Given the description of an element on the screen output the (x, y) to click on. 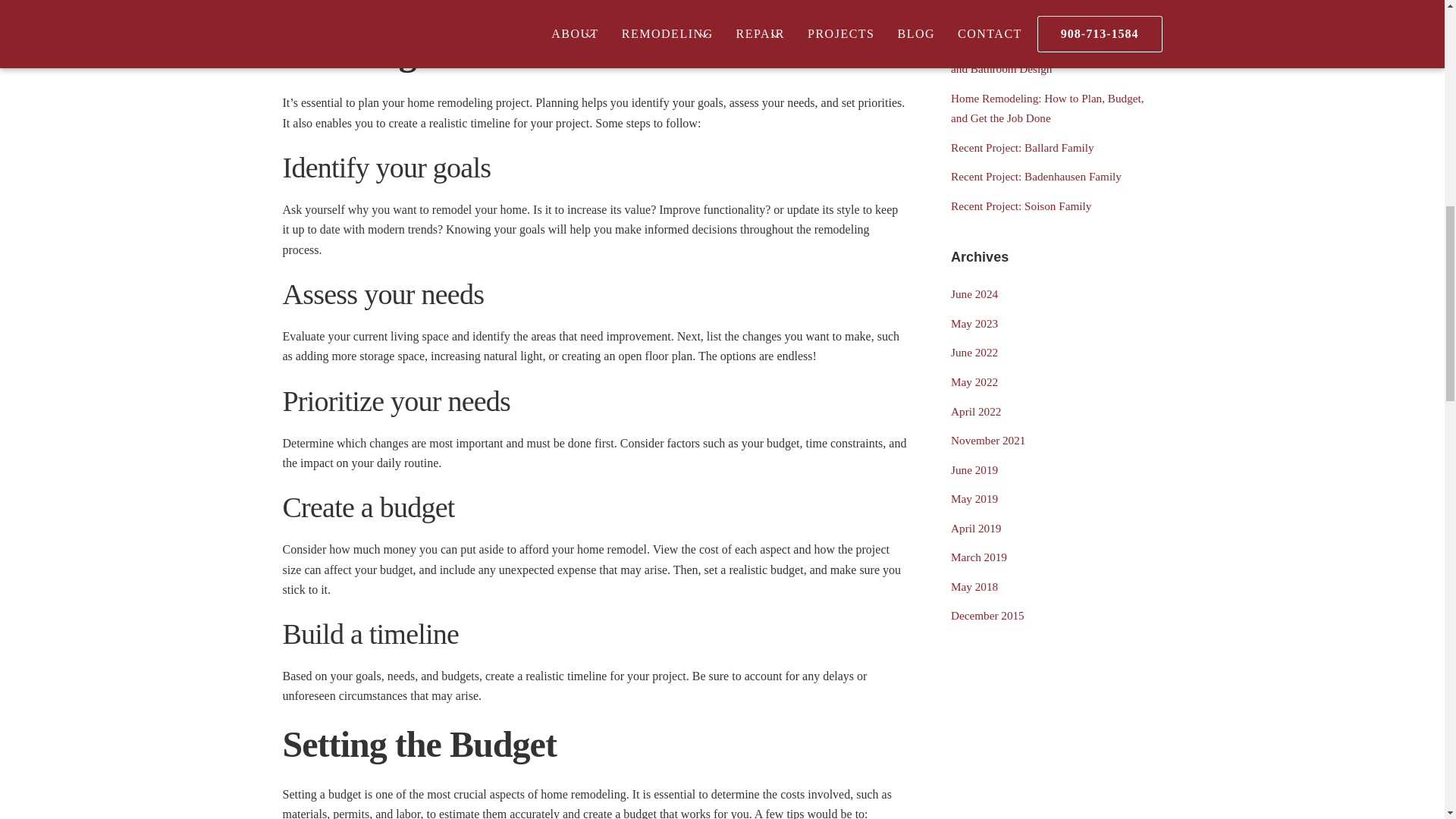
May 2023 (973, 323)
June 2024 (973, 293)
May 2022 (973, 381)
December 2015 (987, 615)
June 2022 (973, 351)
Recent Project: Soison Family (1020, 205)
Recent Project: Ballard Family (1022, 146)
Home Remodeling: How to Plan, Budget, and Get the Job Done  (1046, 107)
November 2021 (987, 440)
March 2019 (978, 556)
April 2022 (975, 410)
Recent Project: Badenhausen Family (1035, 175)
April 2019 (975, 527)
June 2019 (973, 469)
